Given the description of an element on the screen output the (x, y) to click on. 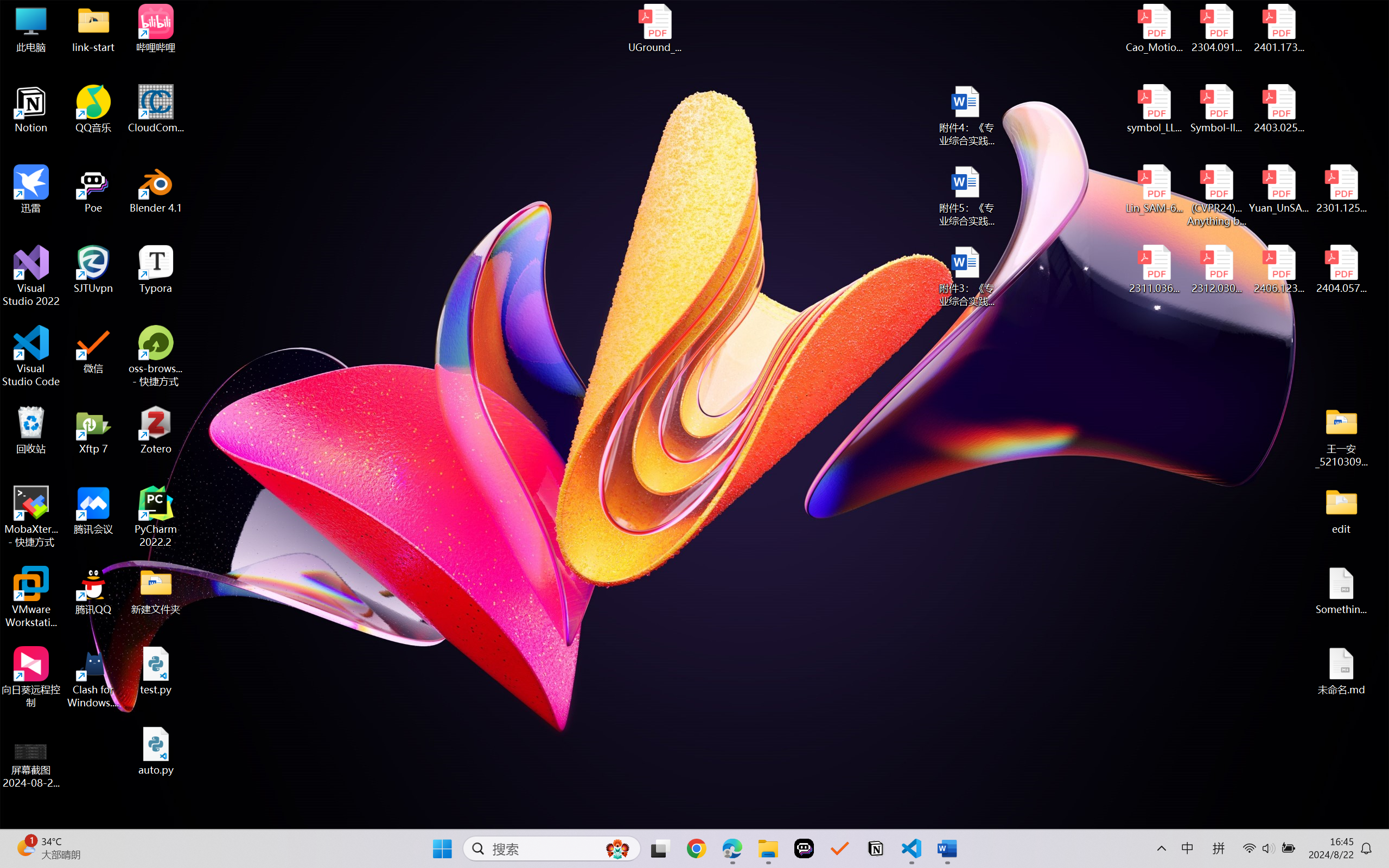
2312.03032v2.pdf (1216, 269)
Visual Studio 2022 (31, 276)
2403.02502v1.pdf (1278, 109)
VMware Workstation Pro (31, 597)
Visual Studio Code (31, 355)
